Given the description of an element on the screen output the (x, y) to click on. 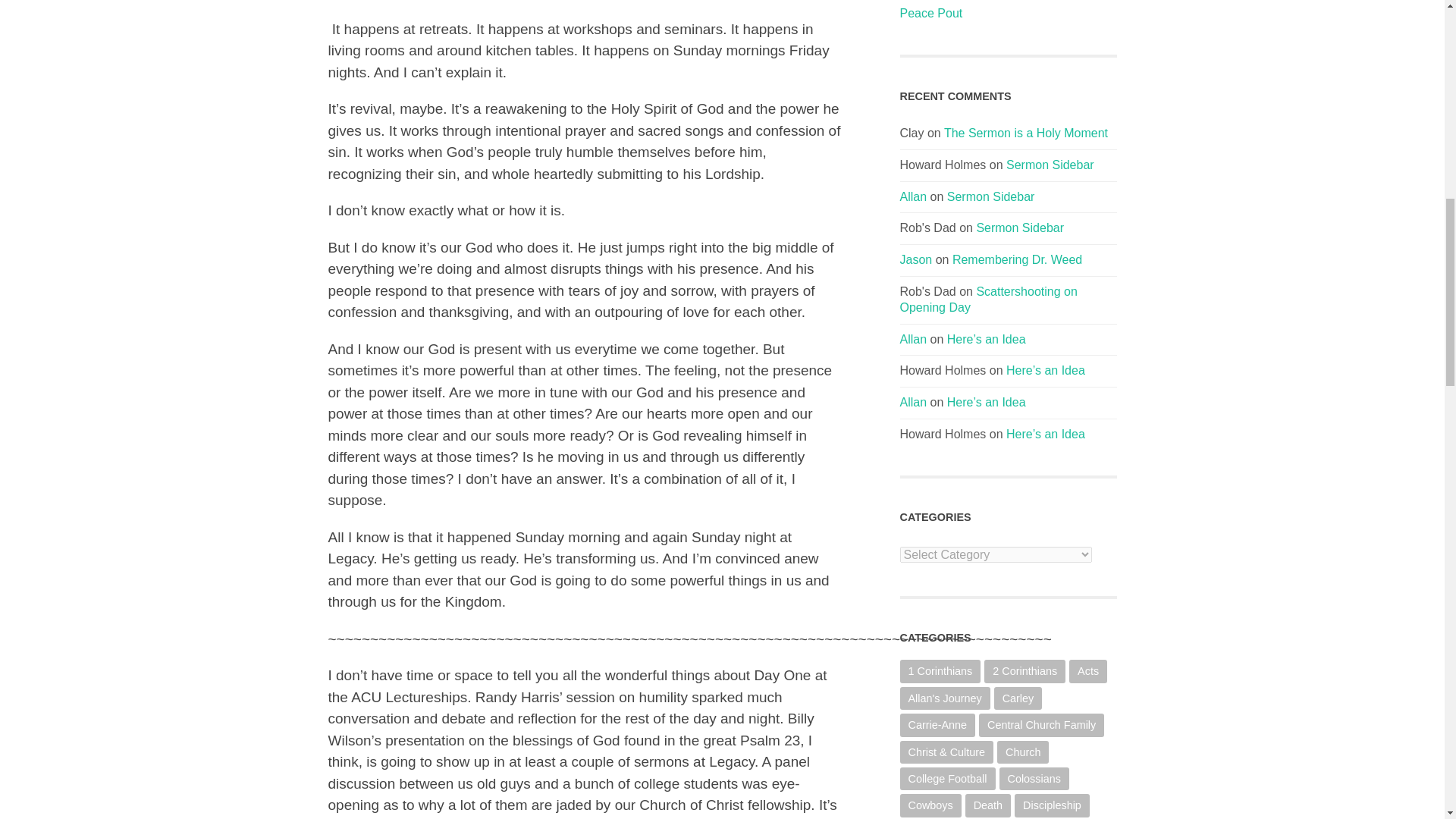
Allan (912, 196)
Sermon Sidebar (1019, 227)
Sermon Sidebar (991, 196)
Sermon Sidebar (1050, 164)
The Sermon is a Holy Moment (1025, 132)
Jason (915, 259)
Remembering Dr. Weed (1016, 259)
Allan (912, 338)
Peace Pout (1007, 13)
Scattershooting on Opening Day (988, 299)
